Given the description of an element on the screen output the (x, y) to click on. 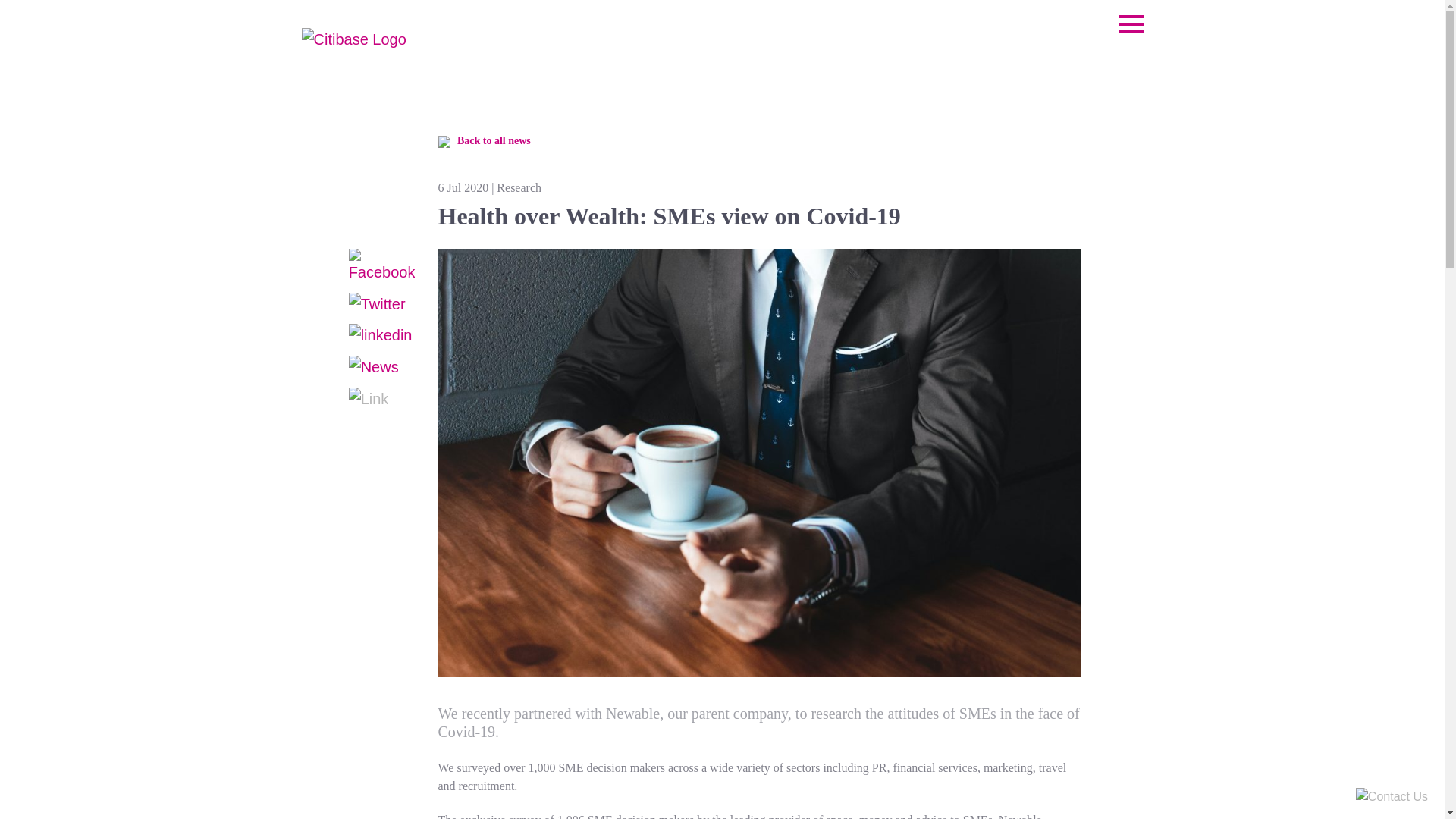
Back to all news (489, 140)
Research (518, 187)
